Given the description of an element on the screen output the (x, y) to click on. 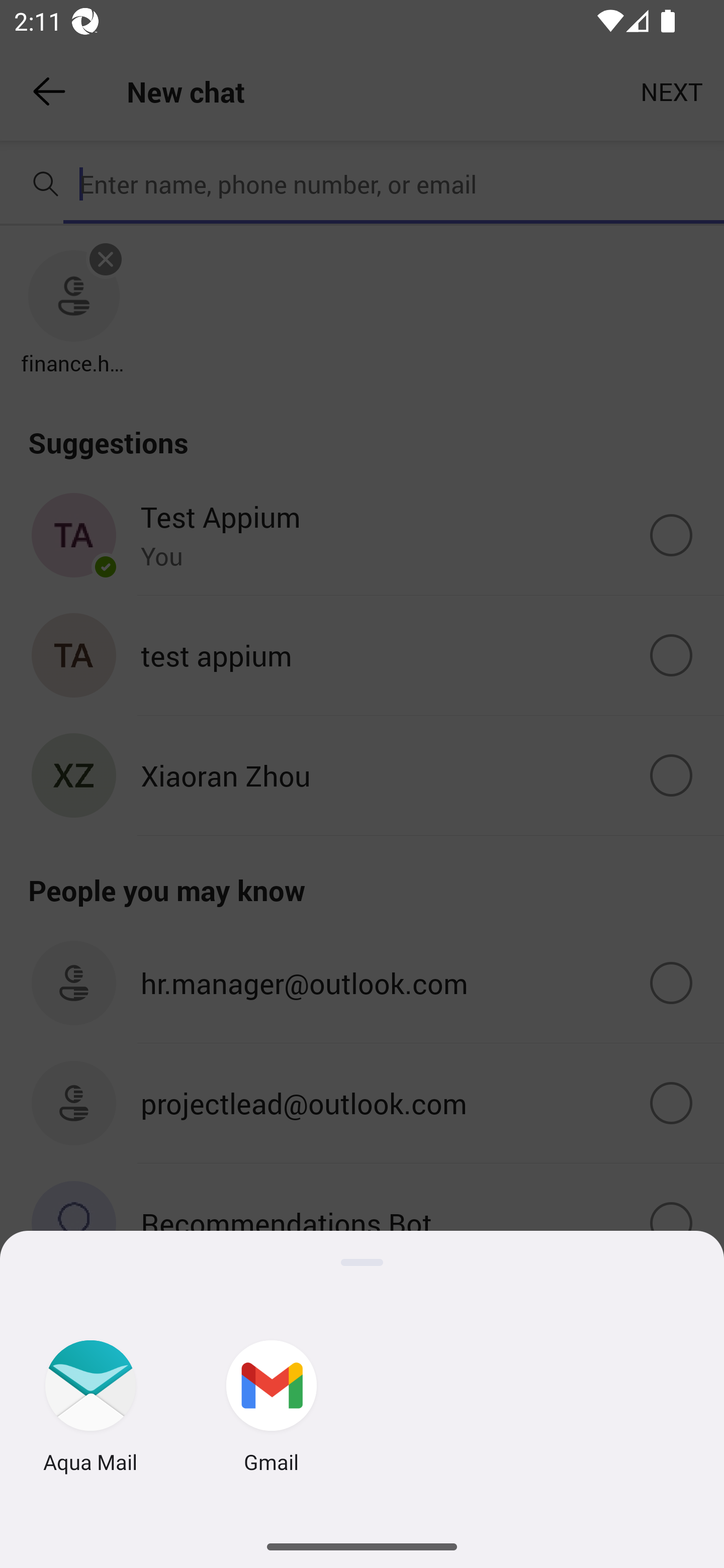
Aqua Mail (90, 1409)
Gmail (271, 1409)
